Given the description of an element on the screen output the (x, y) to click on. 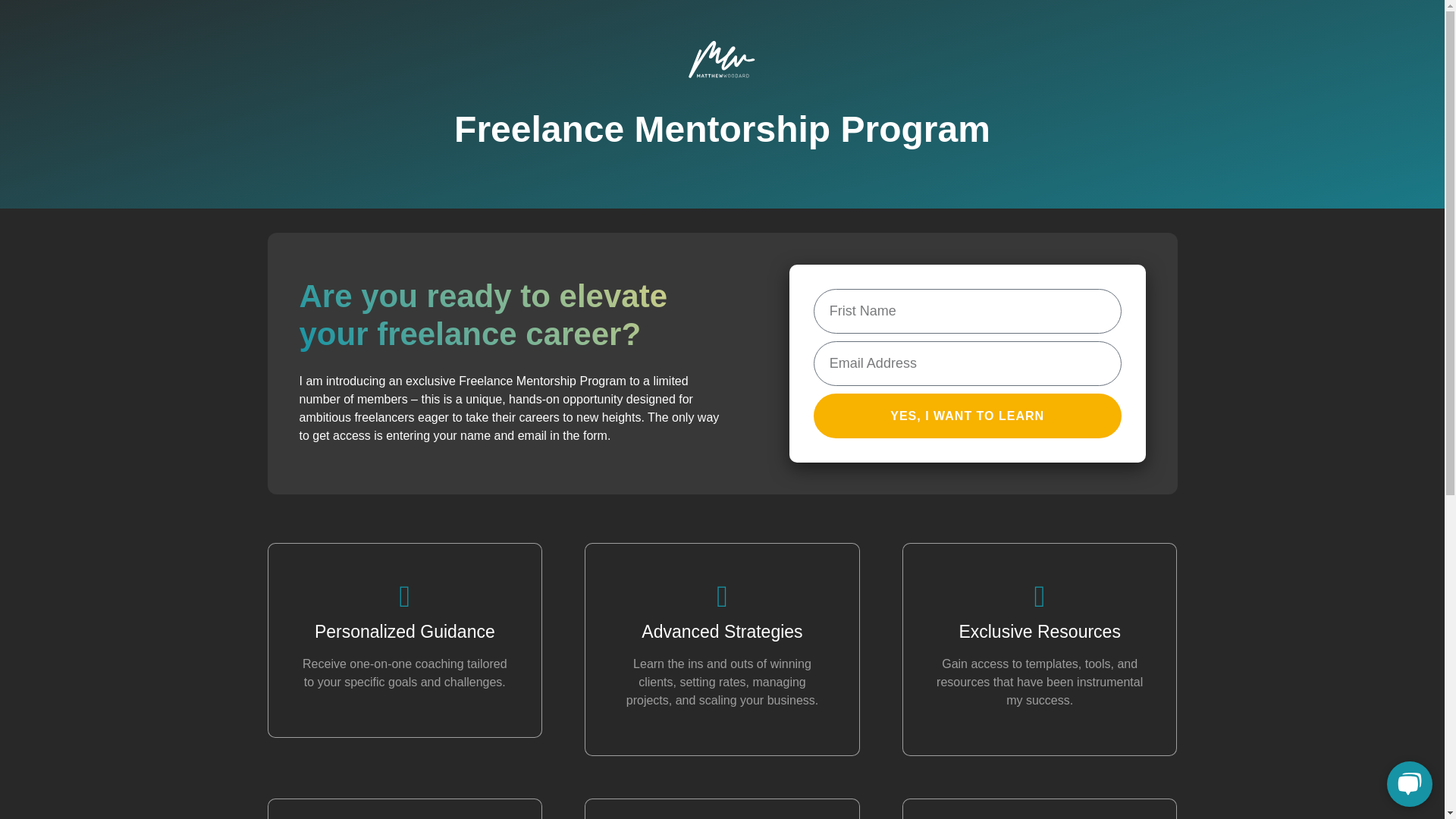
YES, I WANT TO LEARN (967, 415)
Freelance Mentorship Program 1 (722, 61)
